Given the description of an element on the screen output the (x, y) to click on. 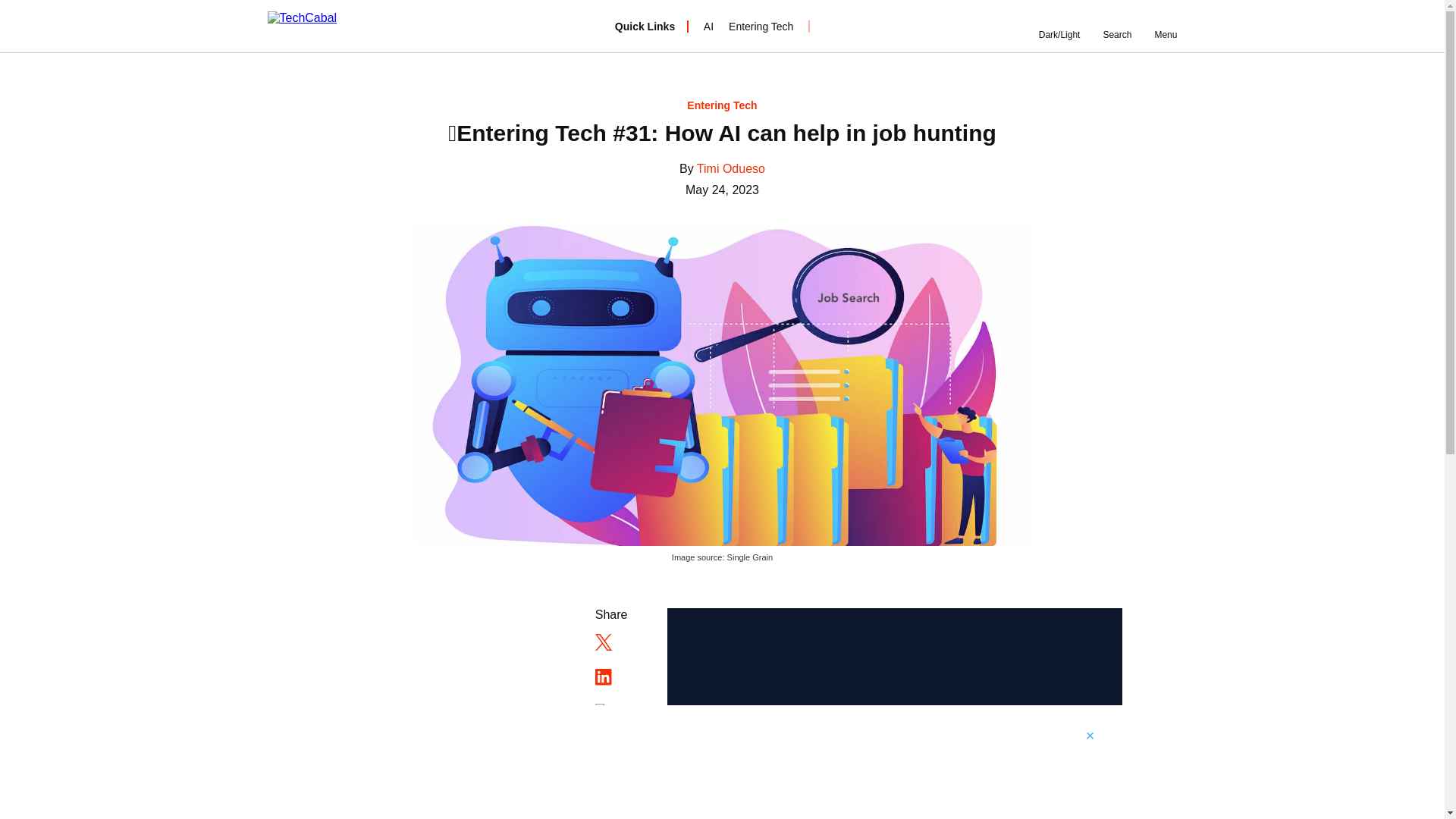
Timi Odueso (731, 168)
Search (1116, 26)
AI (708, 25)
Entering Tech (761, 25)
Entering Tech (722, 105)
